Given the description of an element on the screen output the (x, y) to click on. 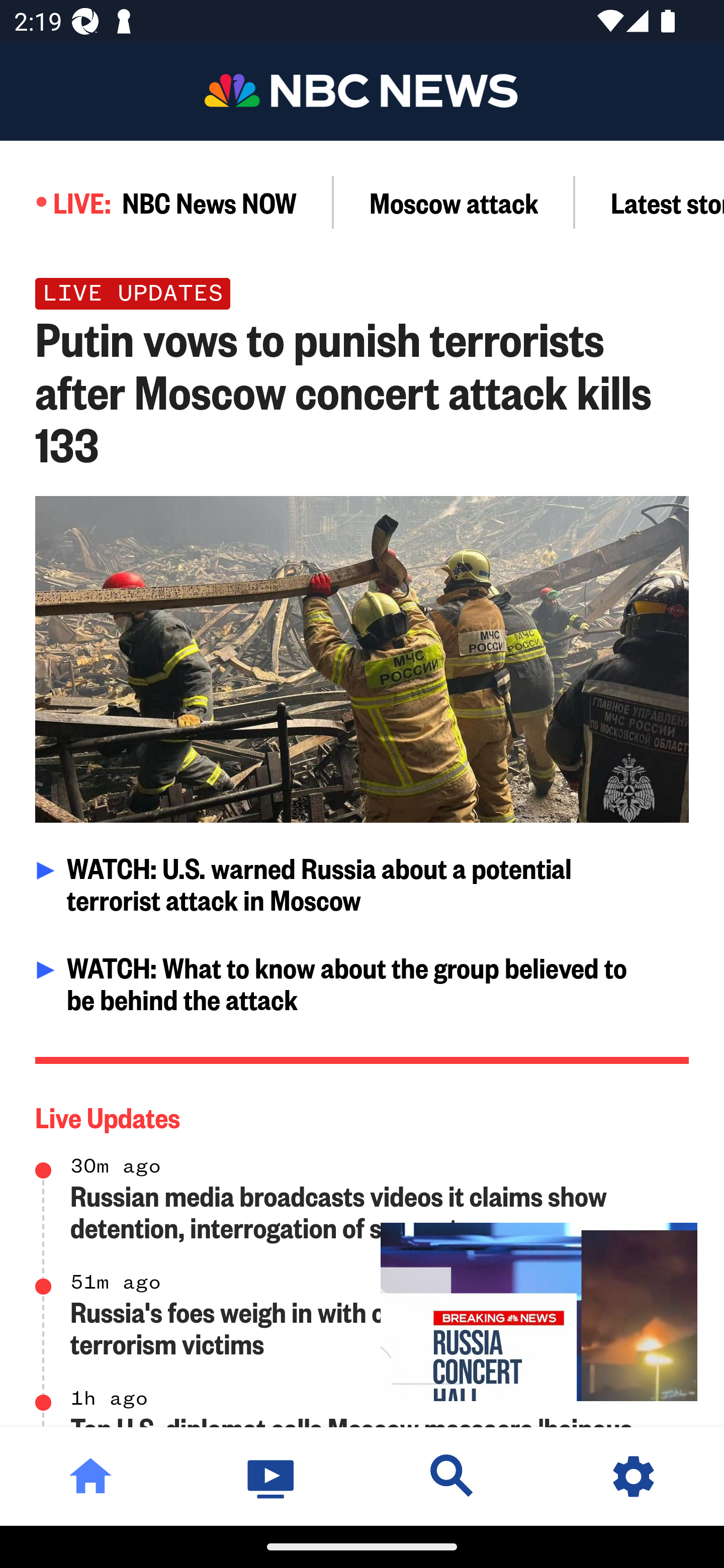
LIVE:  NBC News NOW (166, 202)
Moscow attack (453, 202)
Latest stories Section,Latest stories (649, 202)
Live Updates (363, 1113)
Video, Nightly News Full Broadcast (March 22nd) (538, 1312)
Watch (271, 1475)
Discover (452, 1475)
Settings (633, 1475)
